Given the description of an element on the screen output the (x, y) to click on. 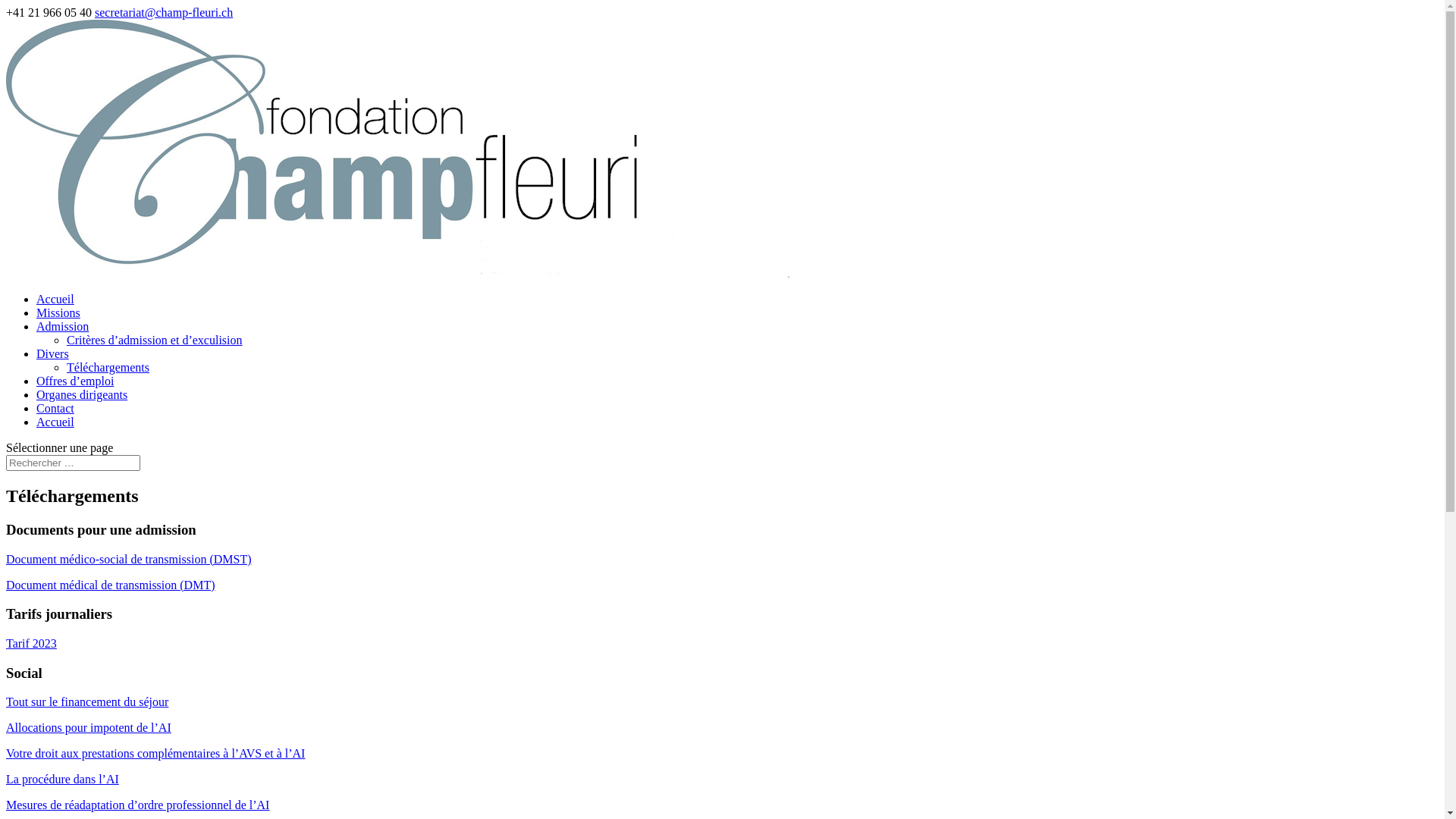
Rechercher: Element type: hover (73, 462)
Divers Element type: text (52, 353)
Contact Element type: text (55, 407)
secretariat@champ-fleuri.ch Element type: text (163, 12)
Accueil Element type: text (55, 421)
Missions Element type: text (58, 312)
Organes dirigeants Element type: text (81, 394)
Tarif 2023 Element type: text (31, 643)
Accueil Element type: text (55, 298)
Admission Element type: text (62, 326)
